Given the description of an element on the screen output the (x, y) to click on. 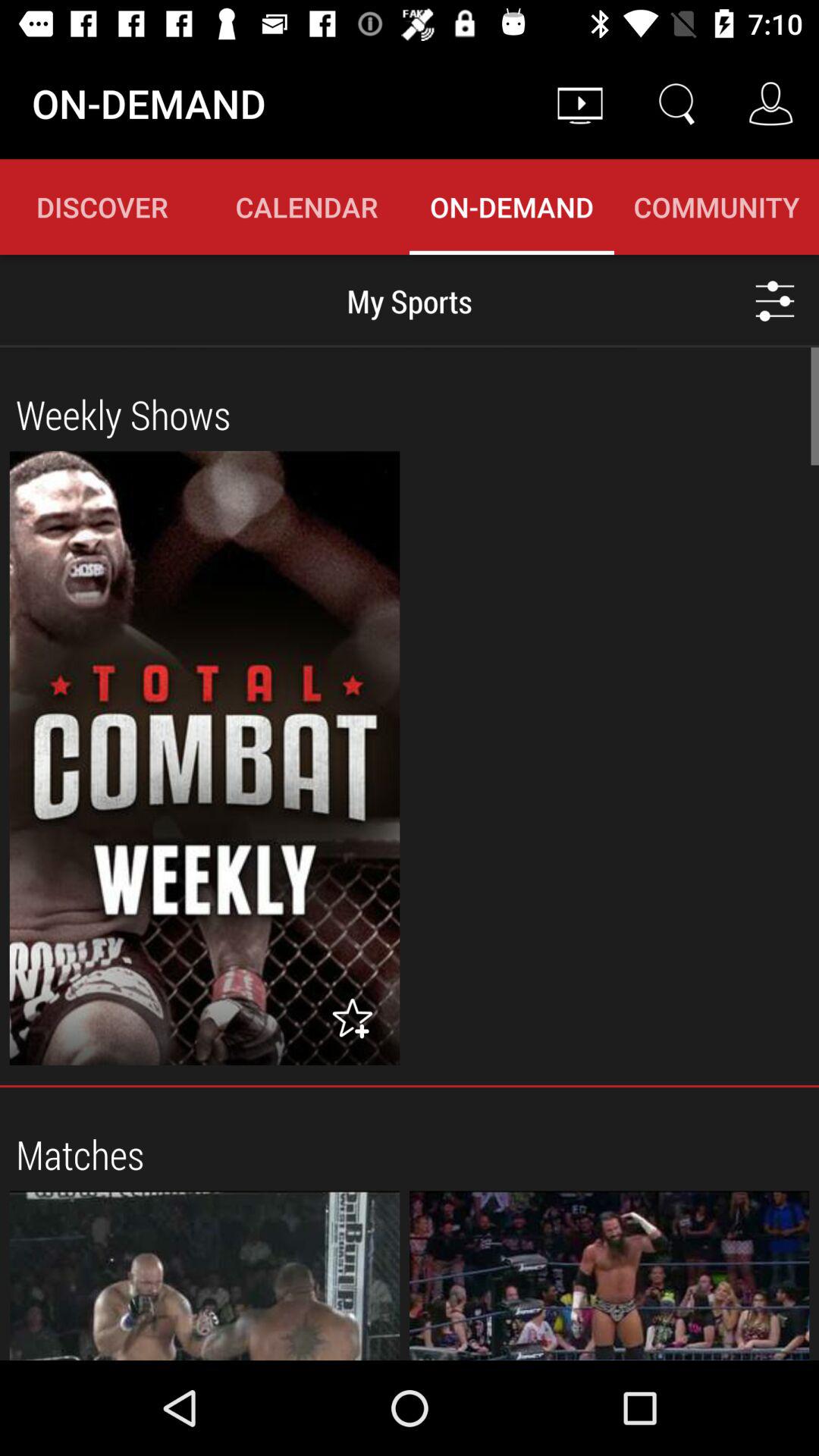
select the first image of the page (204, 758)
click on the icon right to search icon (771, 103)
click on icon left side to search icon (580, 103)
click on the button which is left side ondemand (306, 206)
click on 2nd image below matches at the bottom of the page (609, 1275)
